Given the description of an element on the screen output the (x, y) to click on. 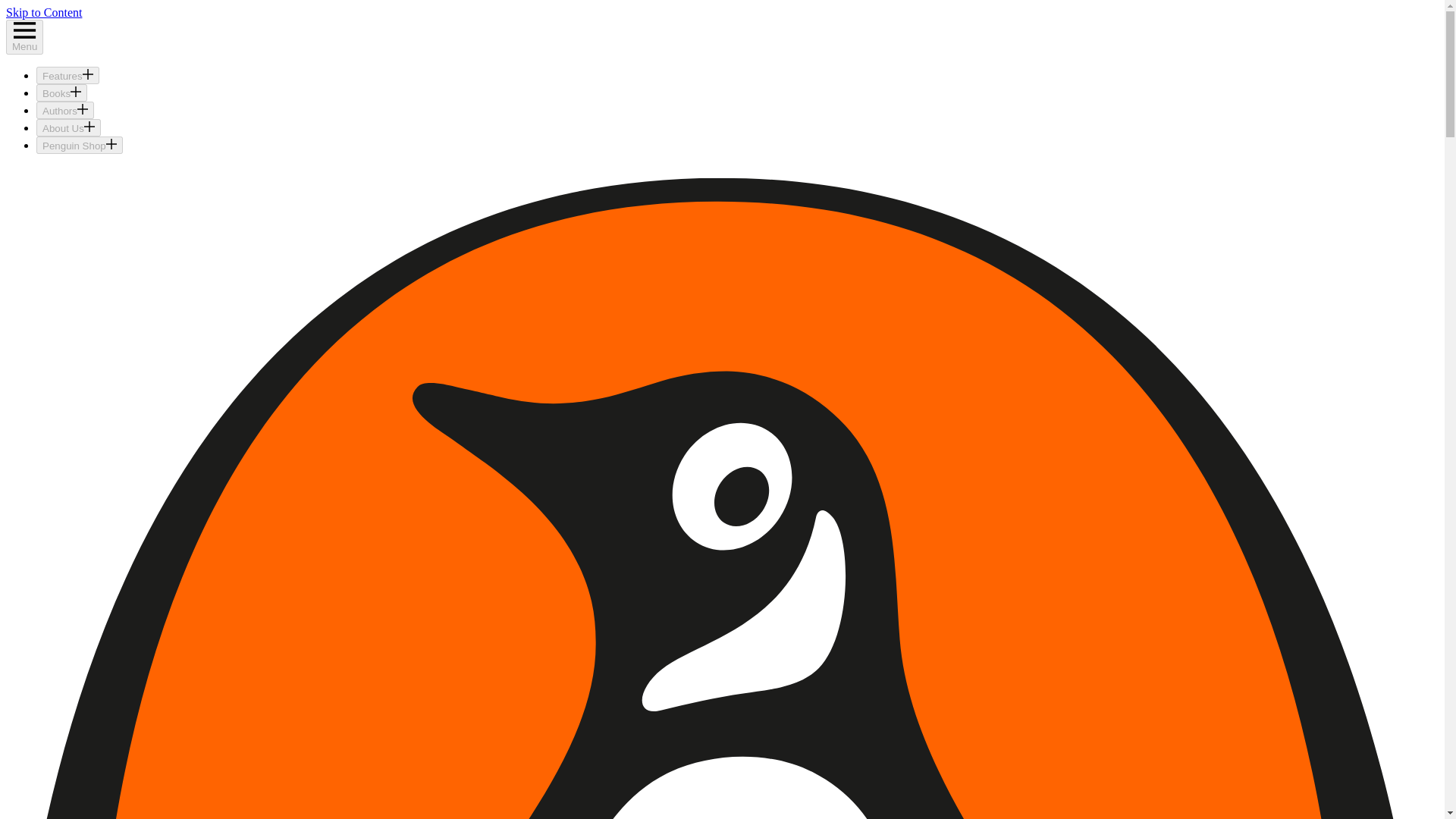
Features (67, 75)
Menu (24, 36)
Books (61, 92)
Penguin Shop (79, 144)
About Us (68, 127)
Skip to Content (43, 11)
Authors (65, 109)
